Given the description of an element on the screen output the (x, y) to click on. 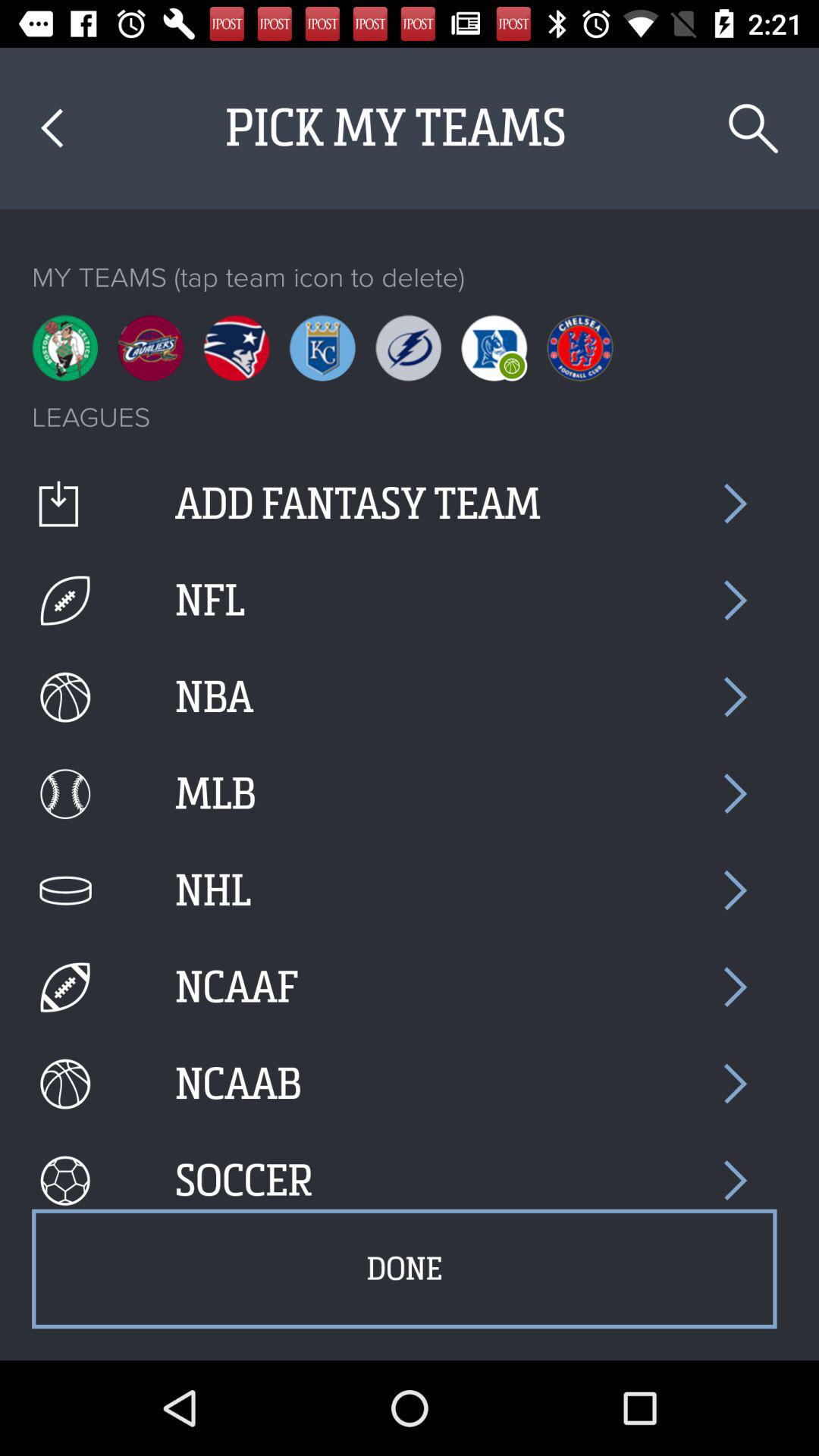
open icon above my teams tap item (753, 128)
